Given the description of an element on the screen output the (x, y) to click on. 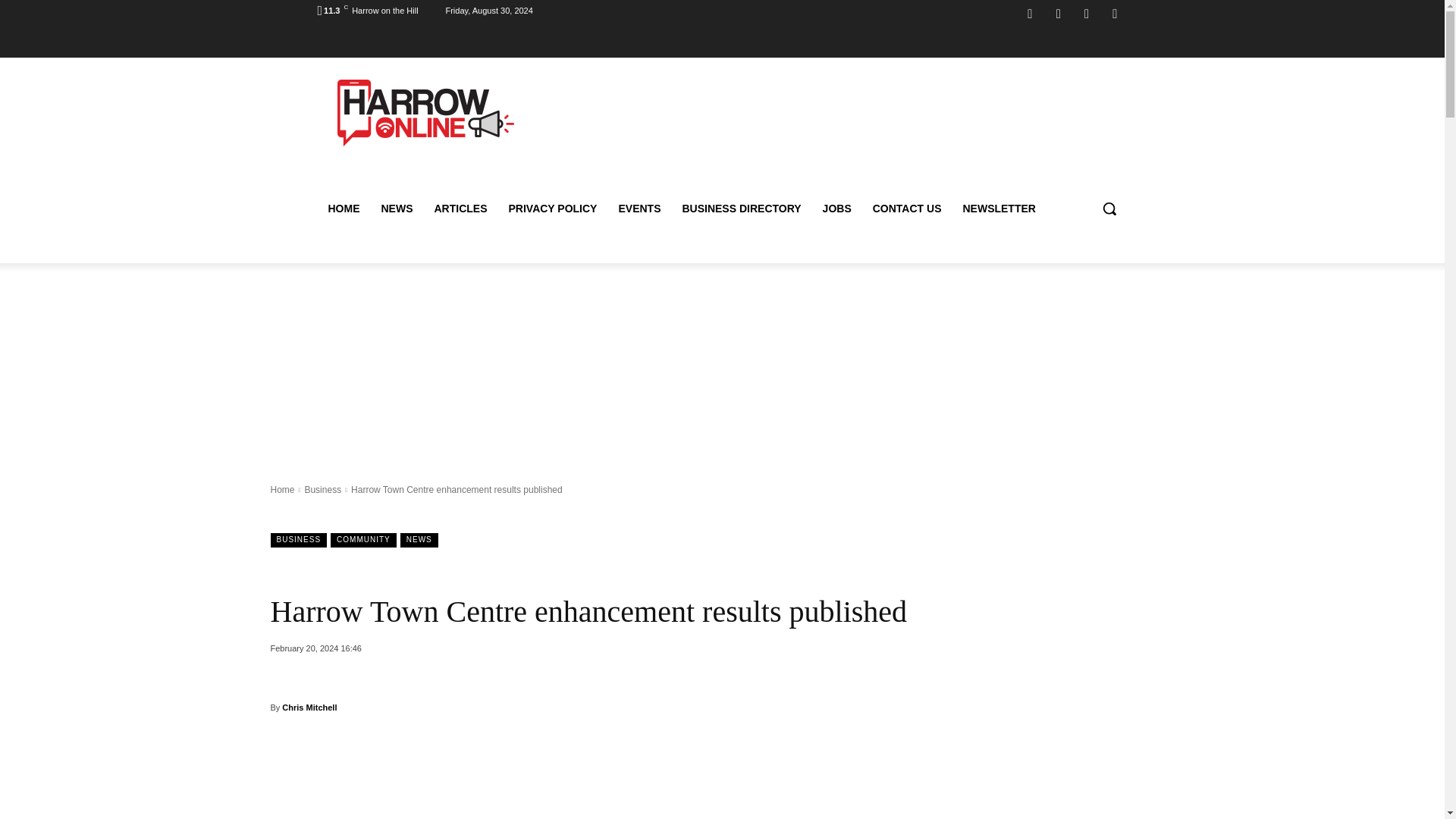
JOBS (836, 208)
TikTok (1086, 13)
PRIVACY POLICY (552, 208)
HOME (343, 208)
BUSINESS DIRECTORY (740, 208)
Facebook (1029, 13)
NEWSLETTER (998, 208)
EVENTS (639, 208)
NEWS (396, 208)
ARTICLES (460, 208)
